Given the description of an element on the screen output the (x, y) to click on. 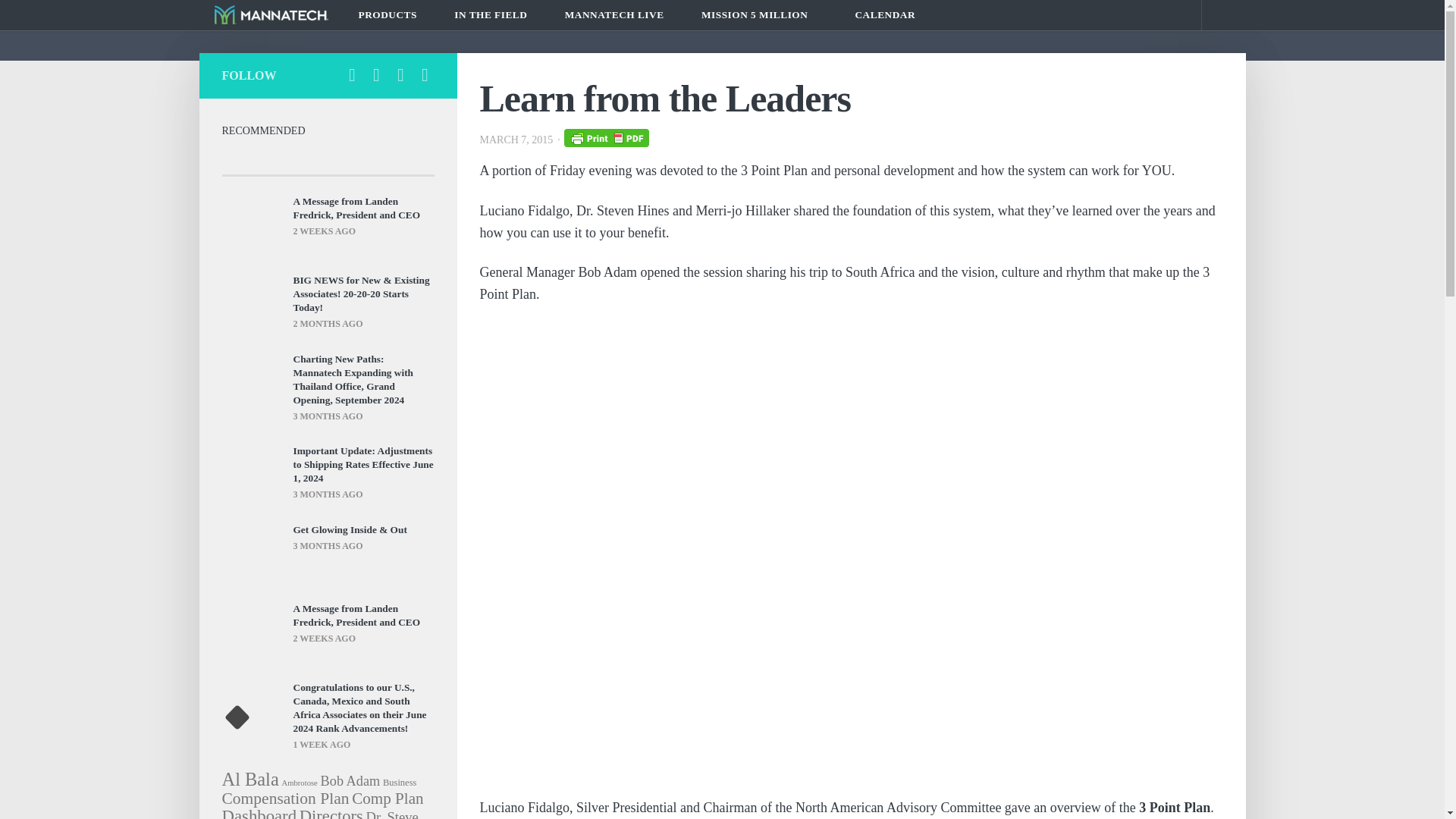
Popular Posts (256, 160)
Home (270, 14)
Instagram (400, 75)
Skip to content (59, 20)
YouTube (423, 75)
X (375, 75)
Facebook (351, 75)
Tags (397, 160)
PRODUCTS (390, 15)
Recent Posts (327, 160)
